Given the description of an element on the screen output the (x, y) to click on. 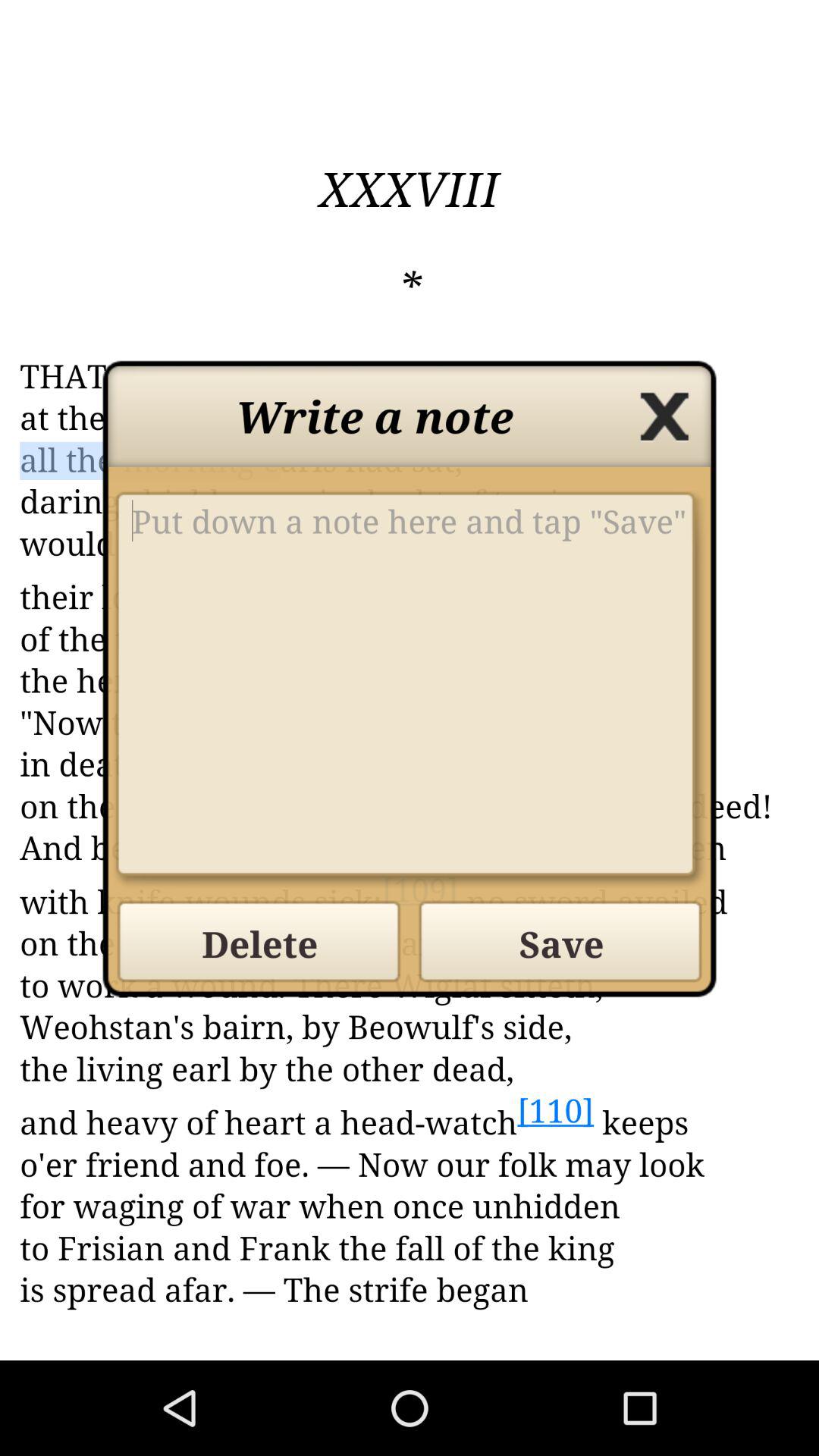
write a note (409, 689)
